Given the description of an element on the screen output the (x, y) to click on. 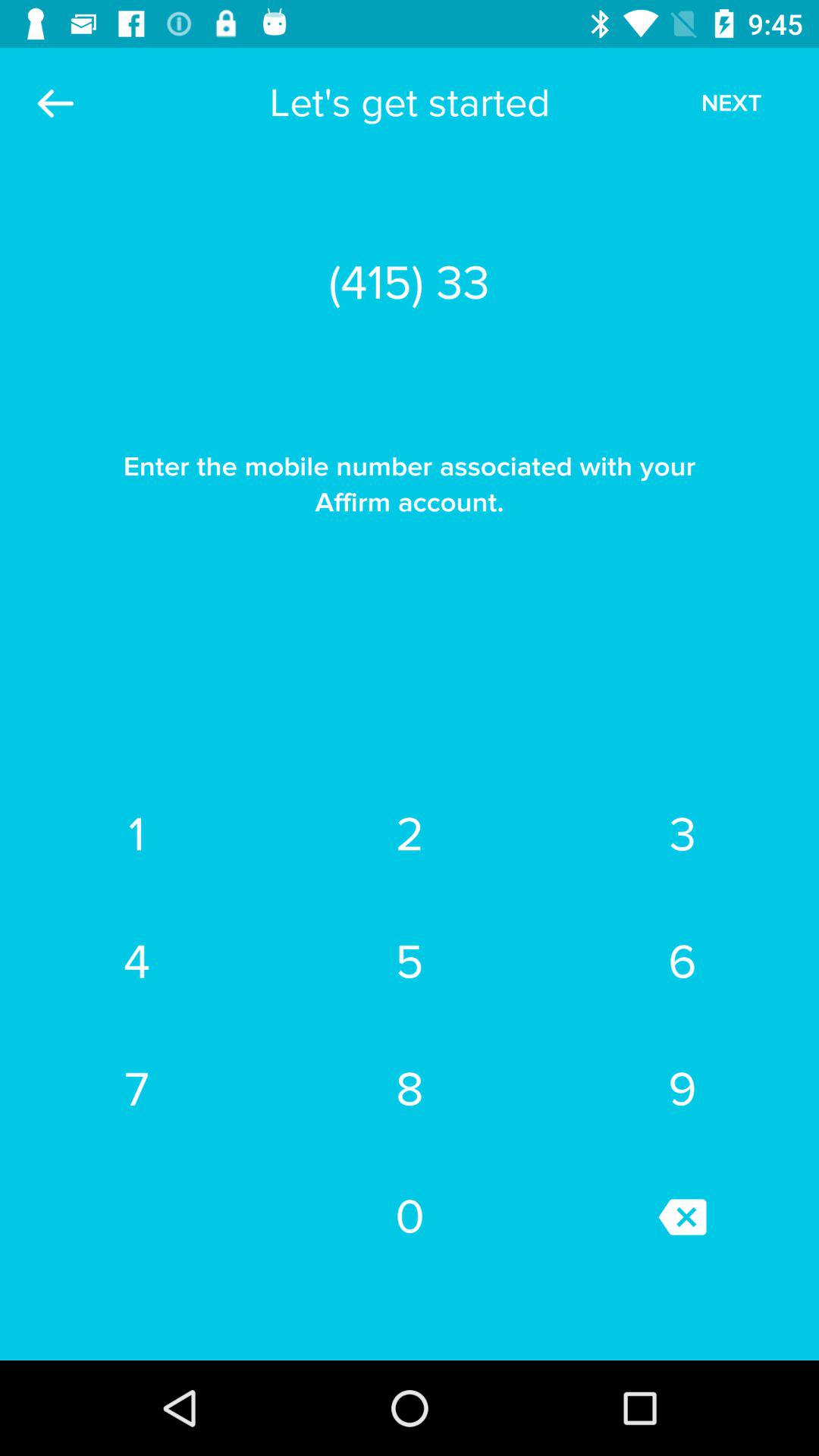
click the icon above (415) 335-6 (731, 103)
